Given the description of an element on the screen output the (x, y) to click on. 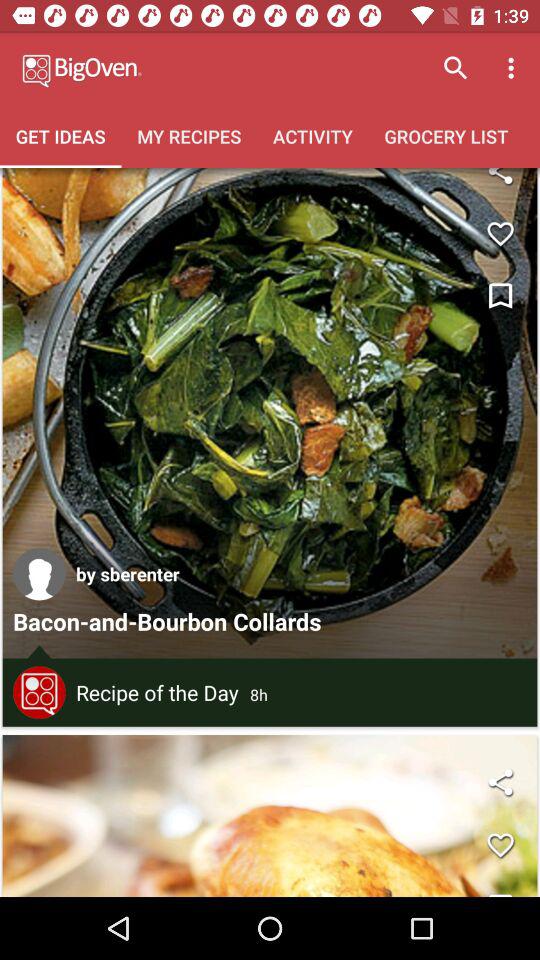
launch the by sberenter icon (127, 573)
